Given the description of an element on the screen output the (x, y) to click on. 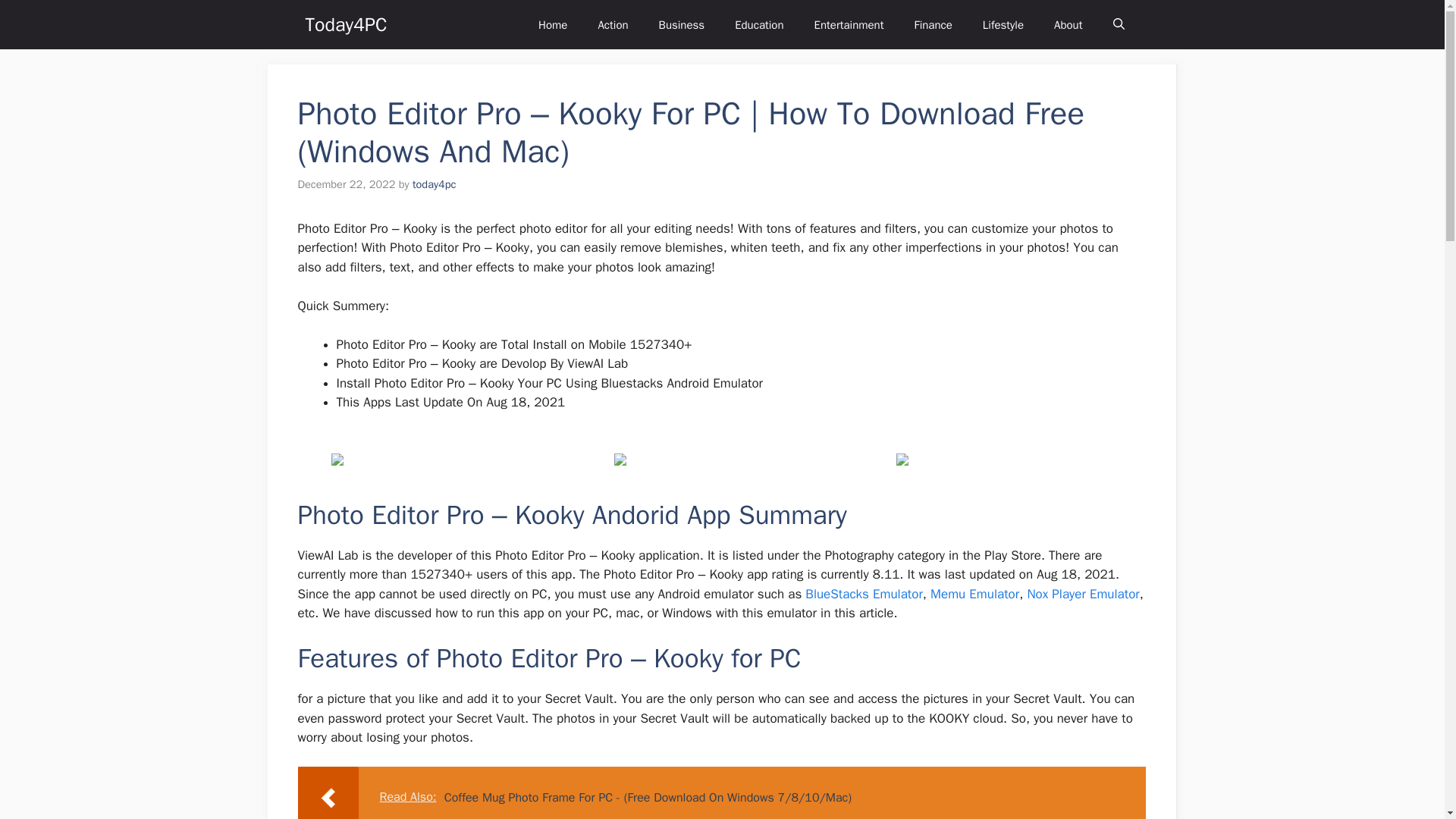
Today4PC (345, 24)
Finance (932, 23)
Action (612, 23)
About (1068, 23)
Entertainment (849, 23)
Education (758, 23)
Memu Emulator (974, 593)
today4pc (433, 183)
BlueStacks Emulator (863, 593)
View all posts by today4pc (433, 183)
Business (681, 23)
Nox Player Emulator (1082, 593)
Lifestyle (1003, 23)
Home (552, 23)
